Given the description of an element on the screen output the (x, y) to click on. 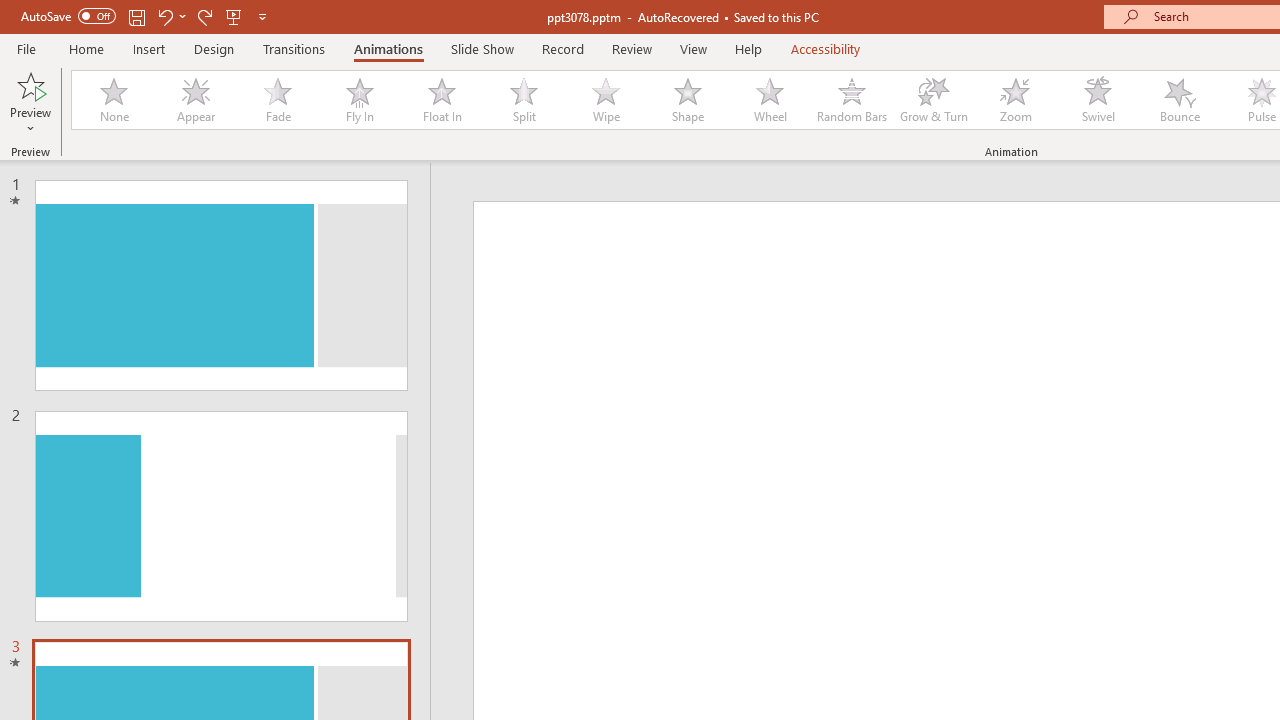
Shape (687, 100)
Float In (441, 100)
Swivel (1098, 100)
None (113, 100)
